Given the description of an element on the screen output the (x, y) to click on. 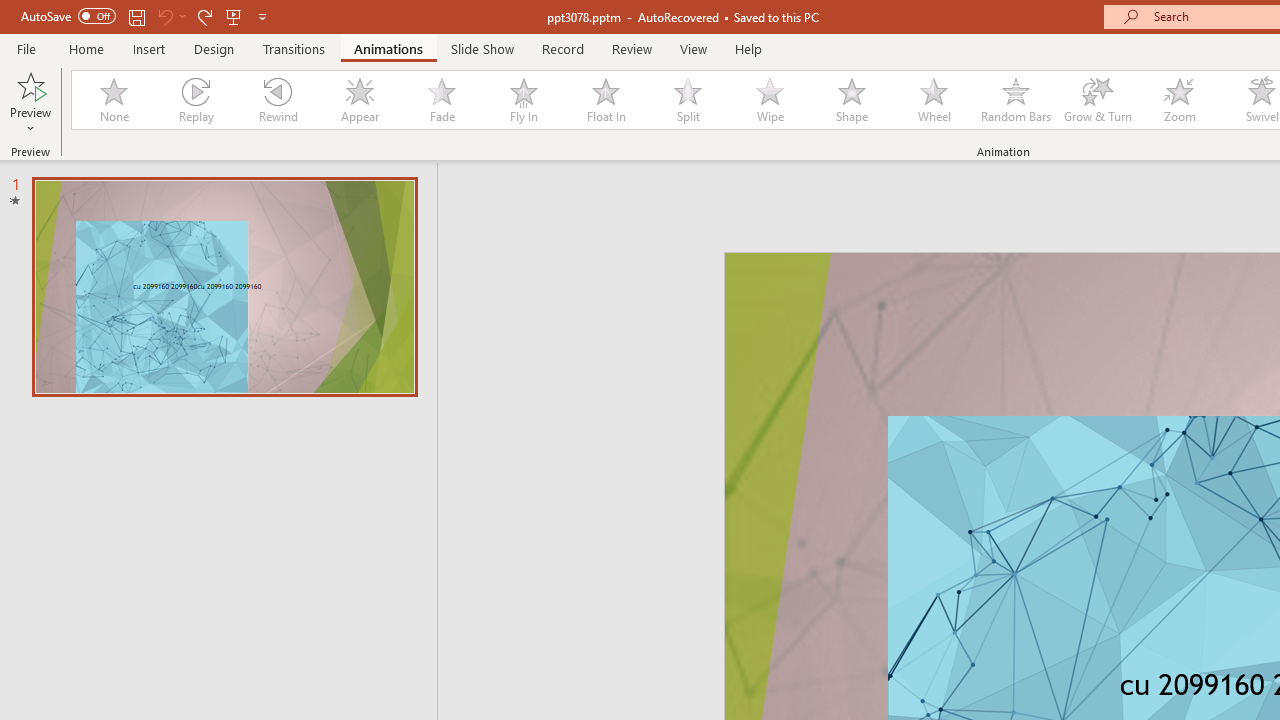
None (113, 100)
Appear (359, 100)
Fade (441, 100)
Preview (30, 102)
Fly In (523, 100)
Wheel (934, 100)
